Given the description of an element on the screen output the (x, y) to click on. 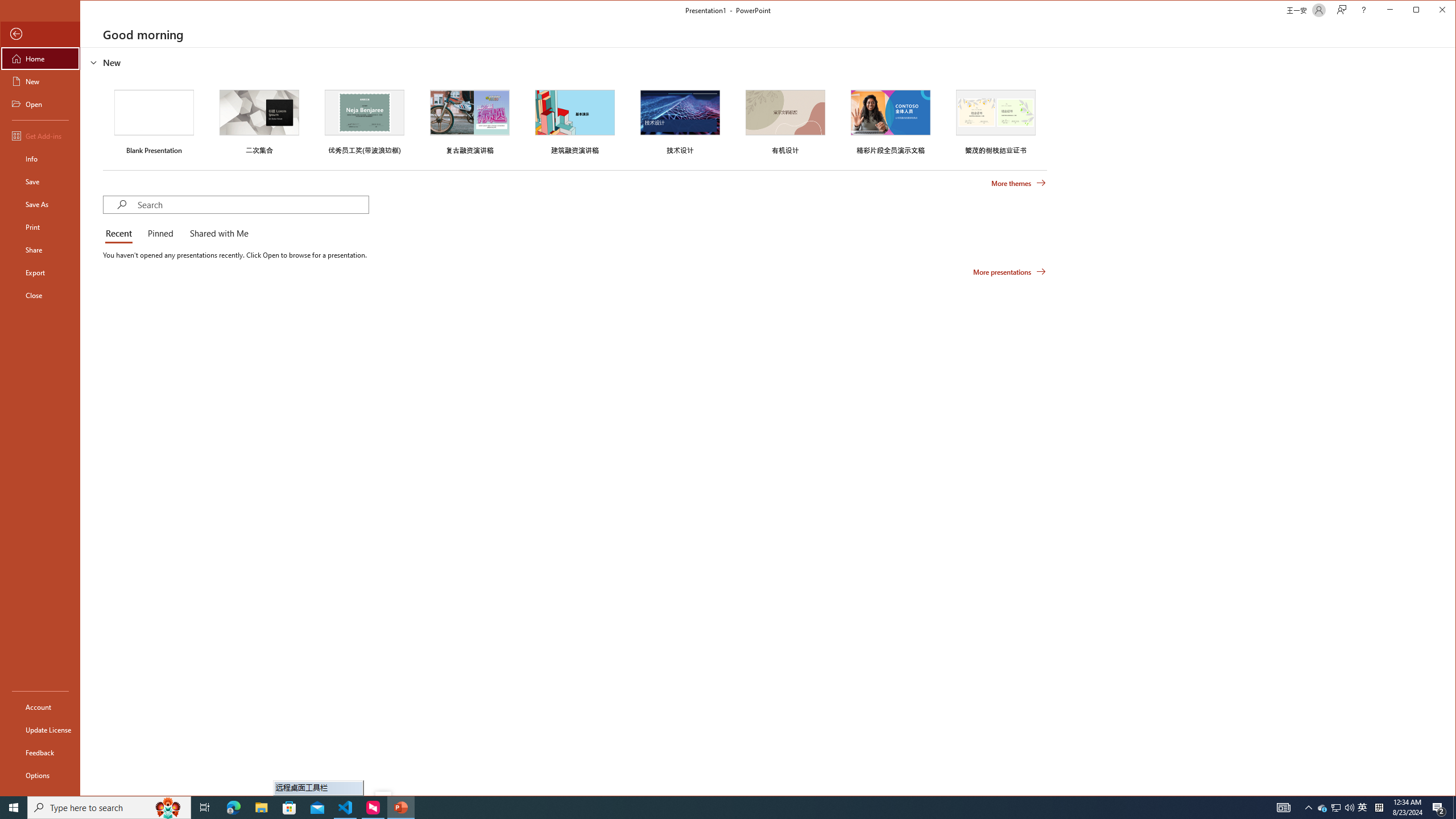
Account (40, 706)
New (40, 80)
Update License (40, 729)
More presentations (1009, 271)
